Given the description of an element on the screen output the (x, y) to click on. 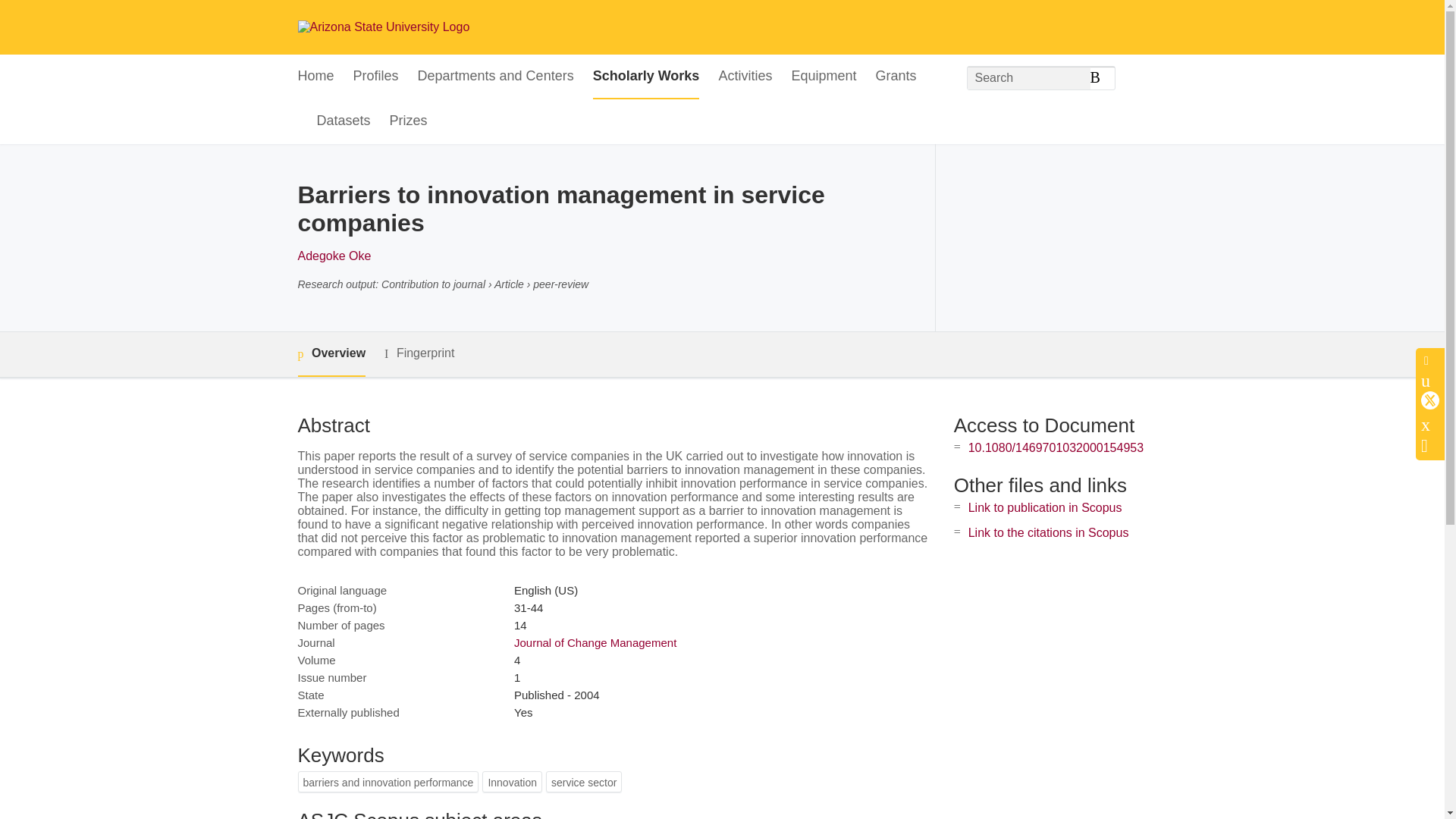
Fingerprint (419, 353)
Equipment (823, 76)
Scholarly Works (646, 76)
Journal of Change Management (595, 642)
Link to publication in Scopus (1045, 507)
Overview (331, 354)
Activities (744, 76)
Grants (895, 76)
Profiles (375, 76)
Adegoke Oke (334, 255)
